Given the description of an element on the screen output the (x, y) to click on. 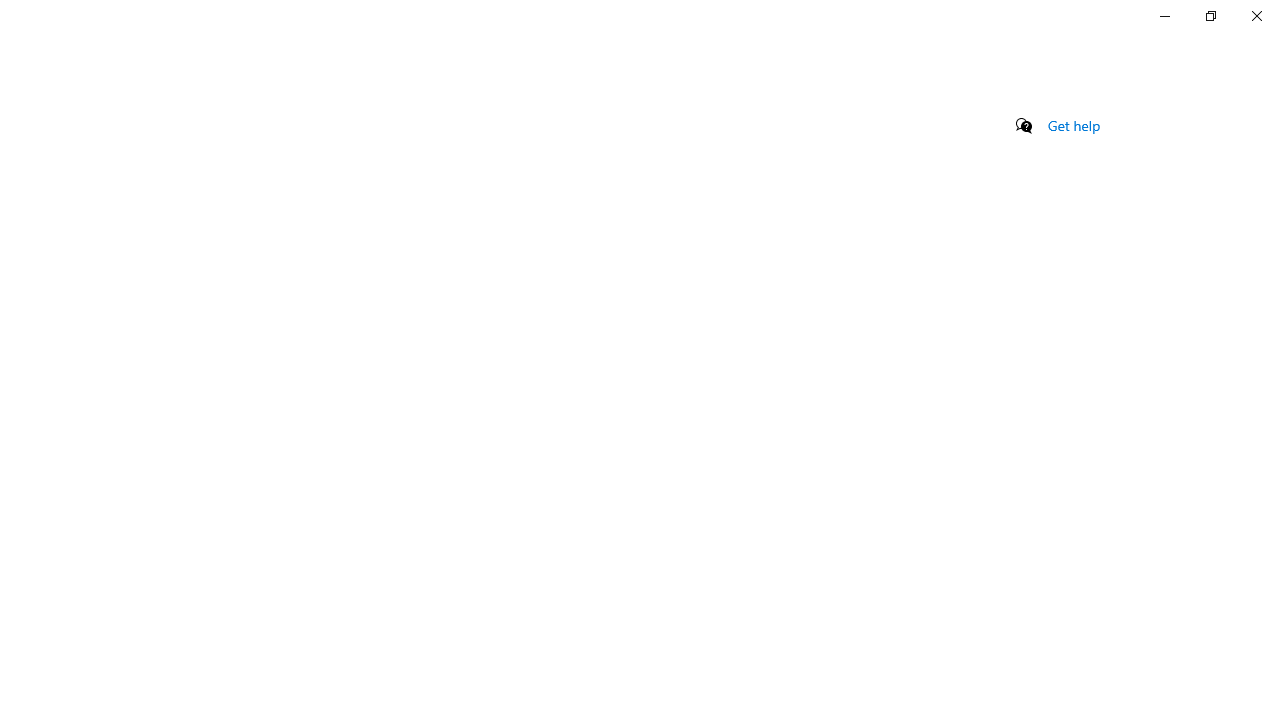
Minimize Settings (1164, 15)
Get help (1074, 125)
Close Settings (1256, 15)
Restore Settings (1210, 15)
